Given the description of an element on the screen output the (x, y) to click on. 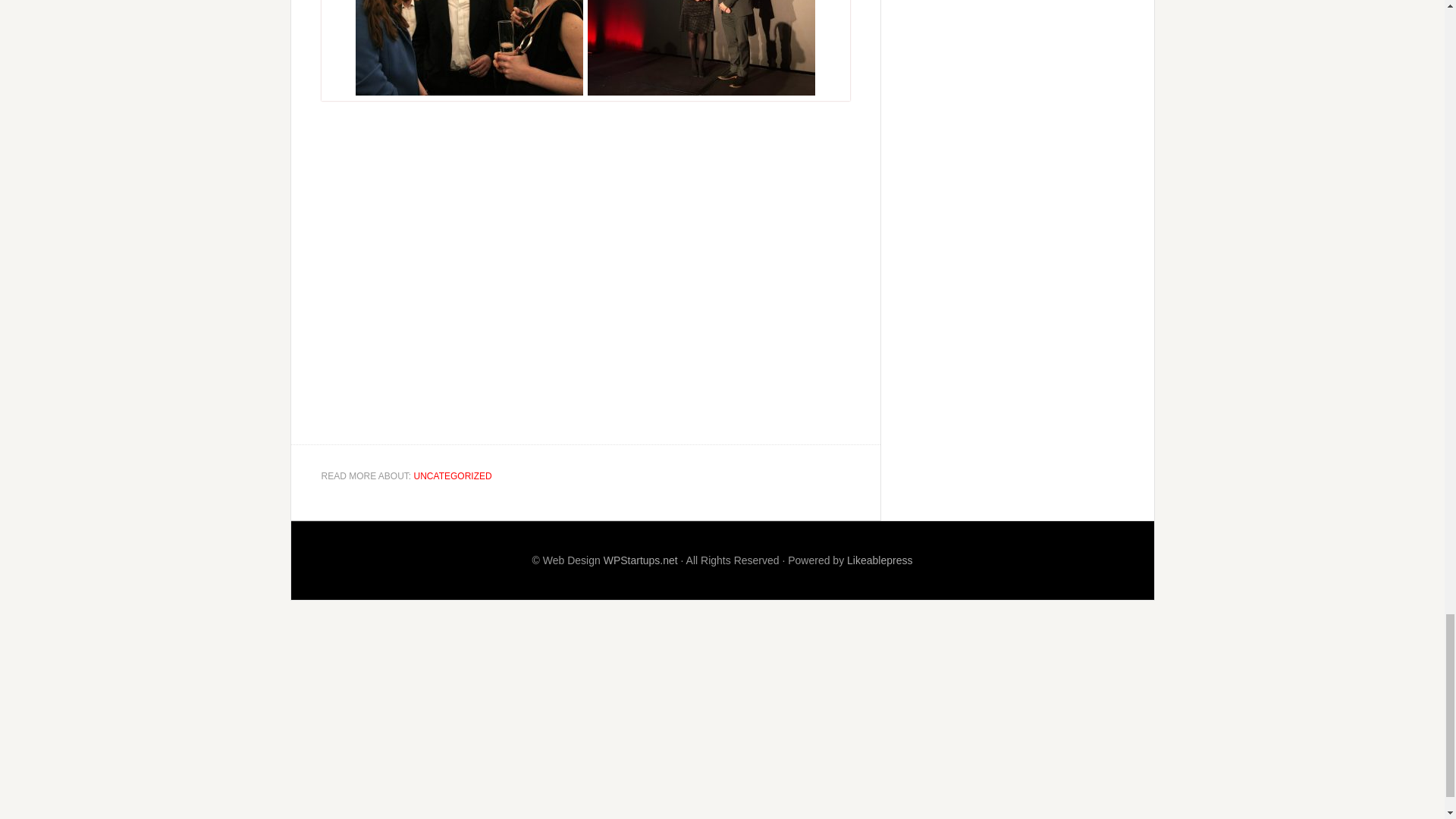
UNCATEGORIZED (452, 475)
Likeablepress (879, 560)
WPStartups.net (641, 560)
